Given the description of an element on the screen output the (x, y) to click on. 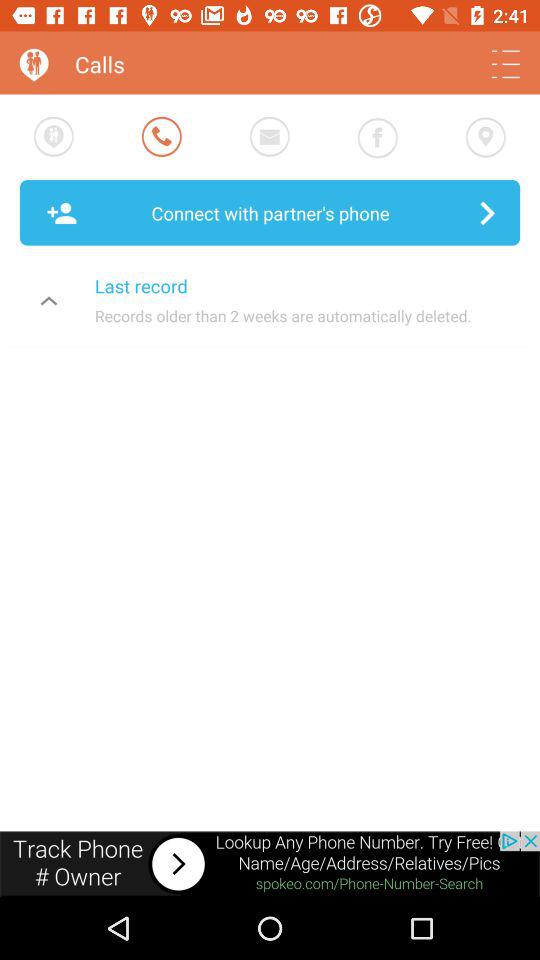
click for home dropdown (505, 64)
